Given the description of an element on the screen output the (x, y) to click on. 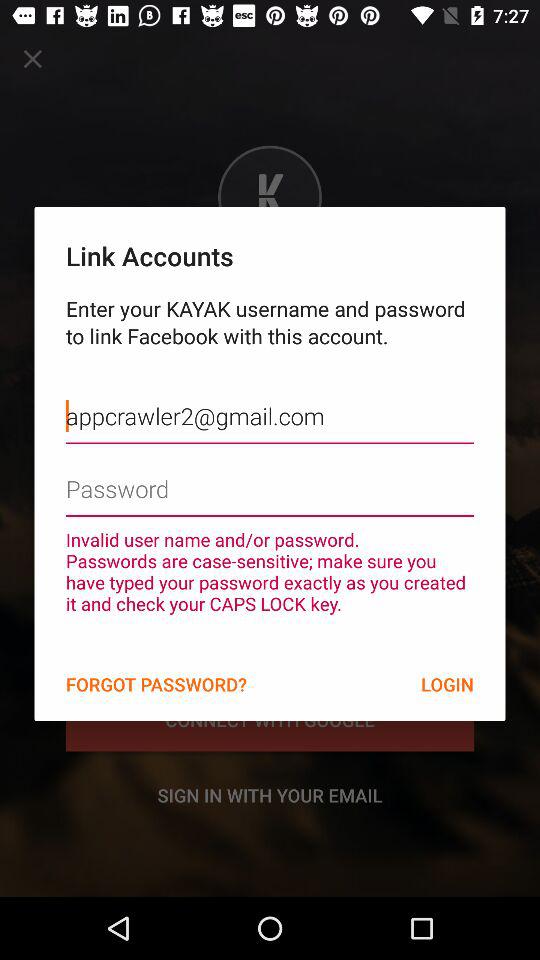
swipe to forgot password? icon (156, 683)
